Given the description of an element on the screen output the (x, y) to click on. 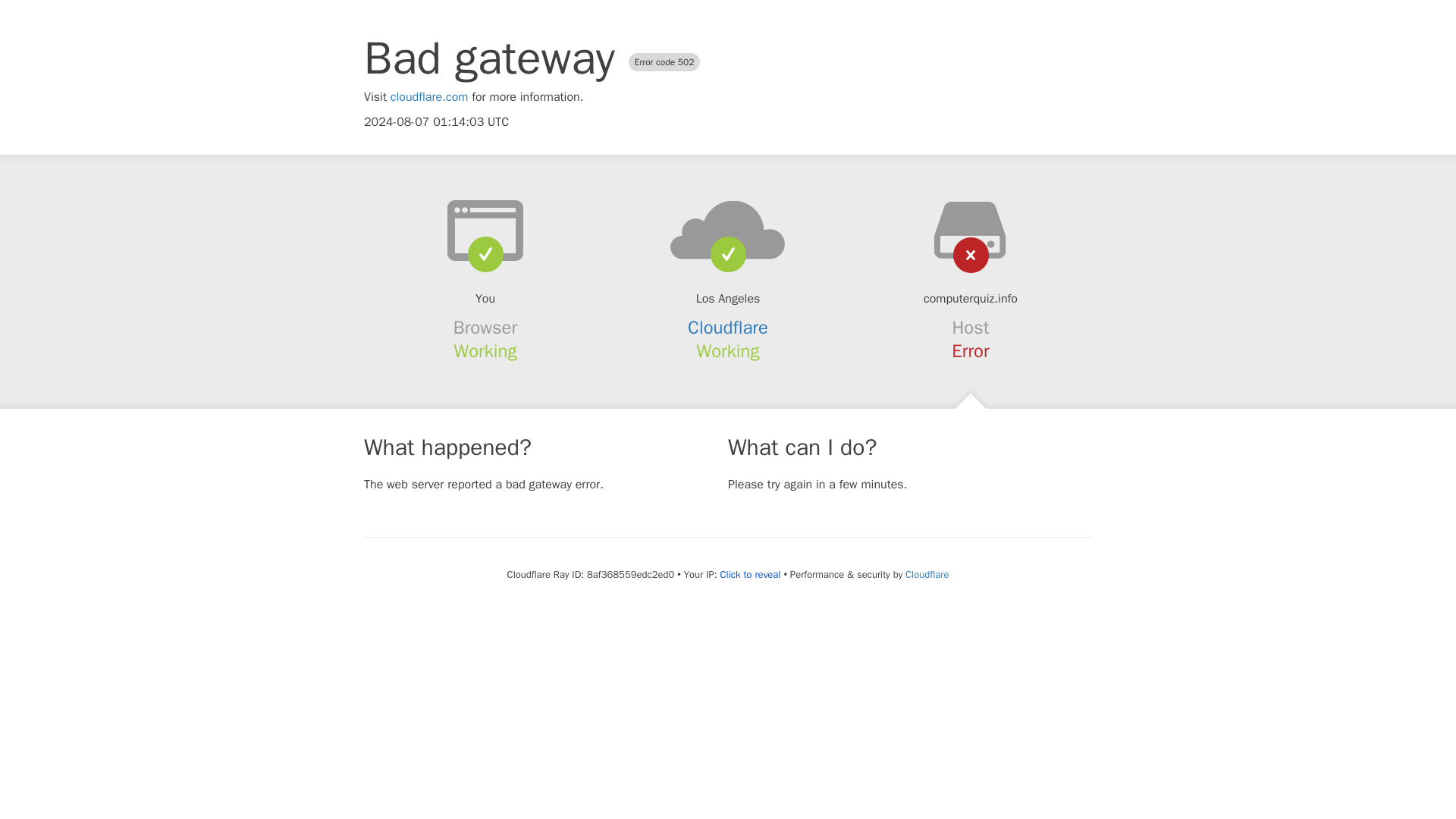
cloudflare.com (429, 96)
Cloudflare (727, 327)
Cloudflare (927, 574)
Click to reveal (750, 574)
